Given the description of an element on the screen output the (x, y) to click on. 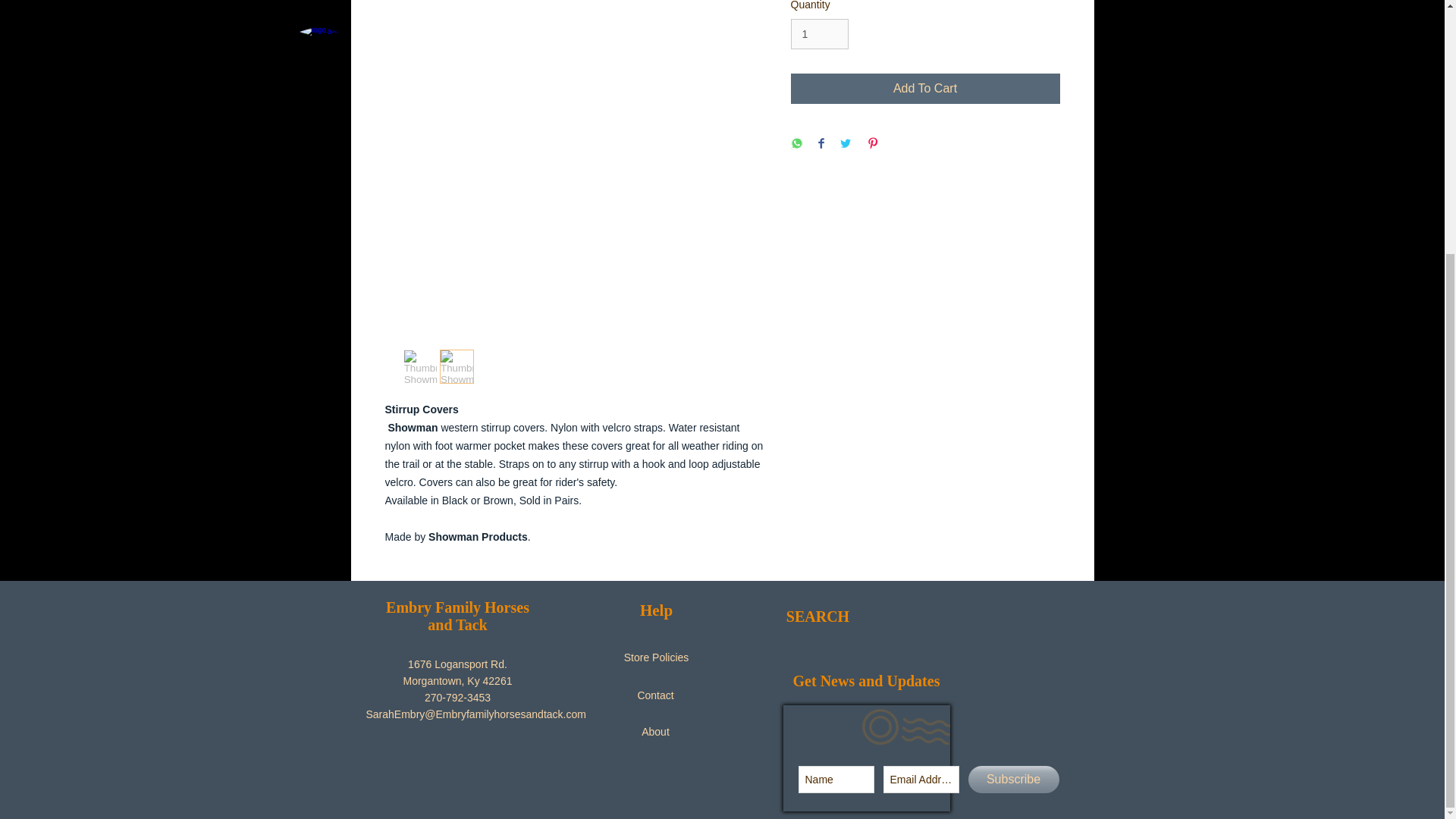
1 (818, 33)
